Given the description of an element on the screen output the (x, y) to click on. 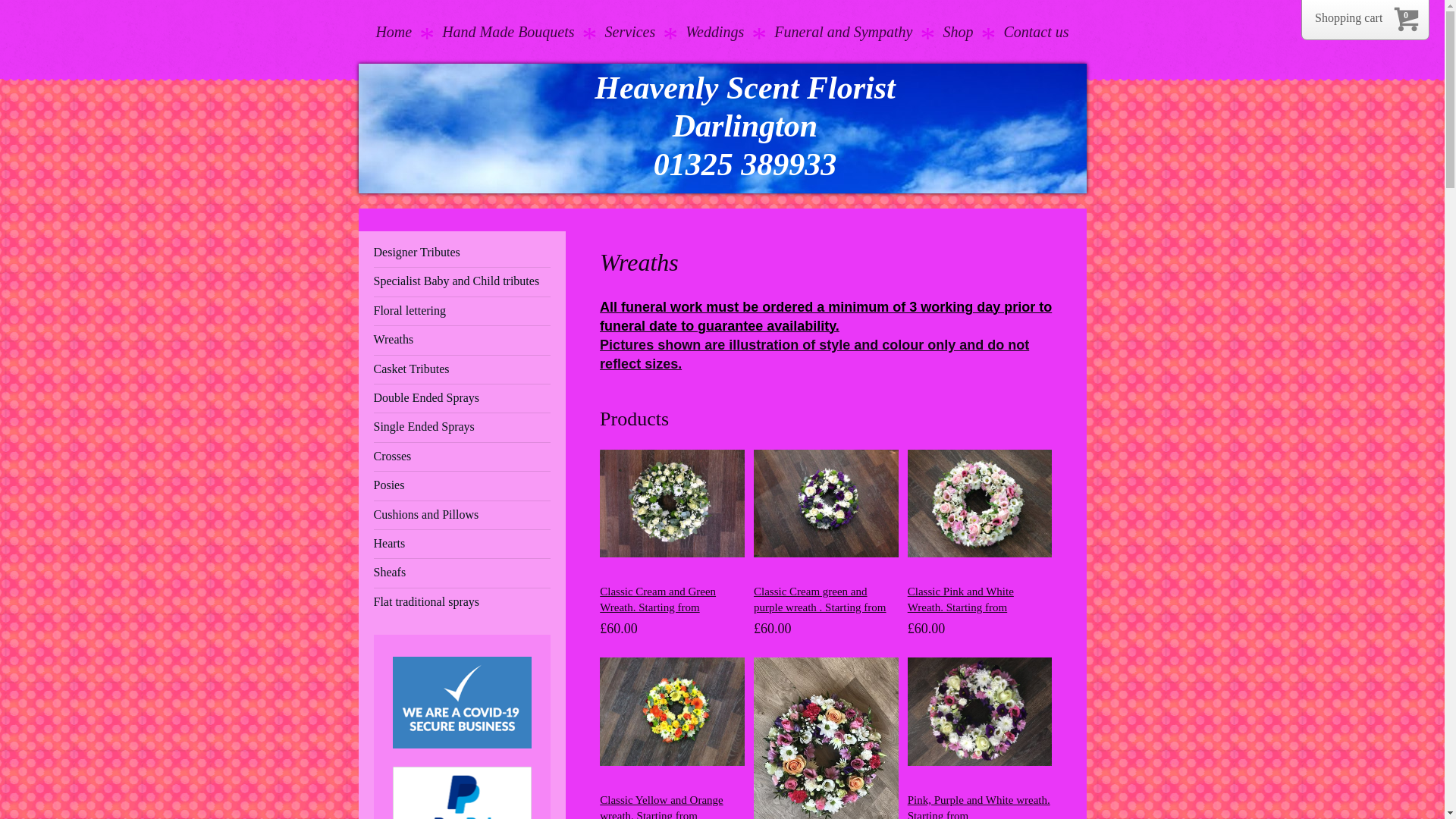
Services (630, 39)
Hand Made Bouquets (507, 39)
Weddings (713, 39)
Home (392, 39)
Heavenly Scent FloristDarlington01325 389933 (744, 124)
Funeral and Sympathy (842, 39)
